Given the description of an element on the screen output the (x, y) to click on. 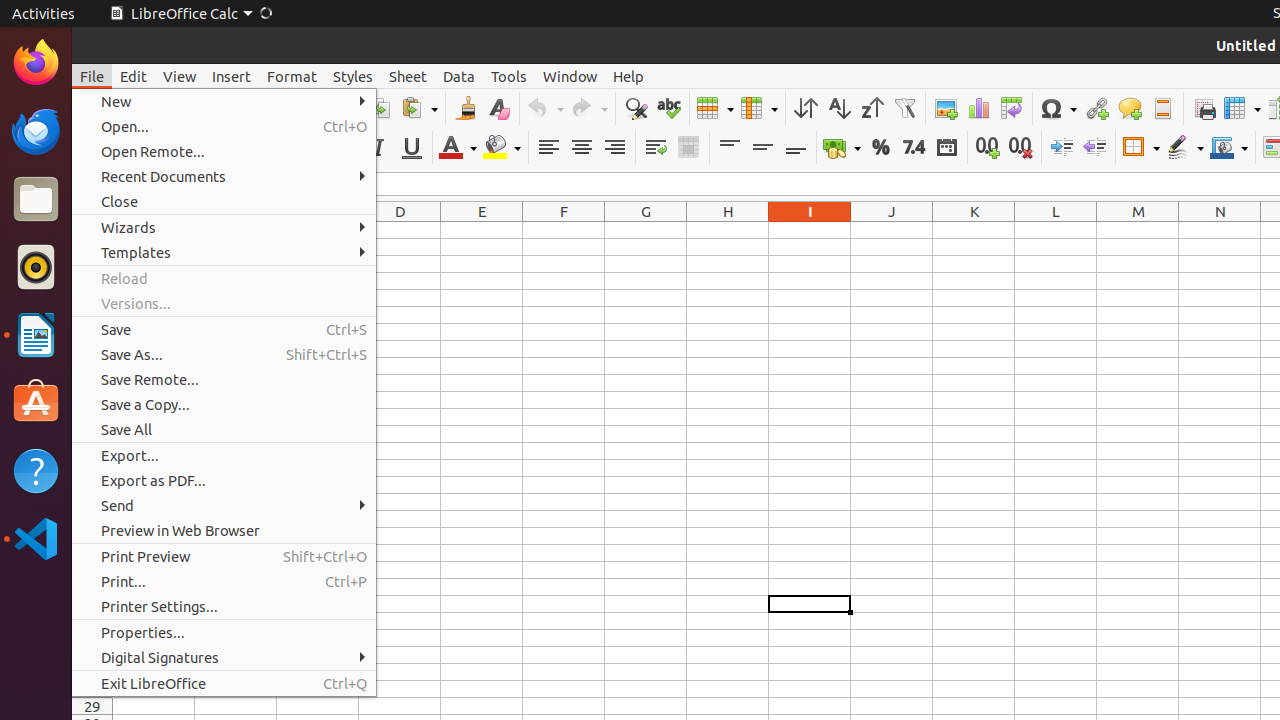
Align Right Element type: push-button (614, 147)
Save a Copy... Element type: menu-item (224, 404)
Freeze Rows and Columns Element type: push-button (1242, 108)
Reload Element type: menu-item (224, 278)
Recent Documents Element type: menu (224, 176)
